Given the description of an element on the screen output the (x, y) to click on. 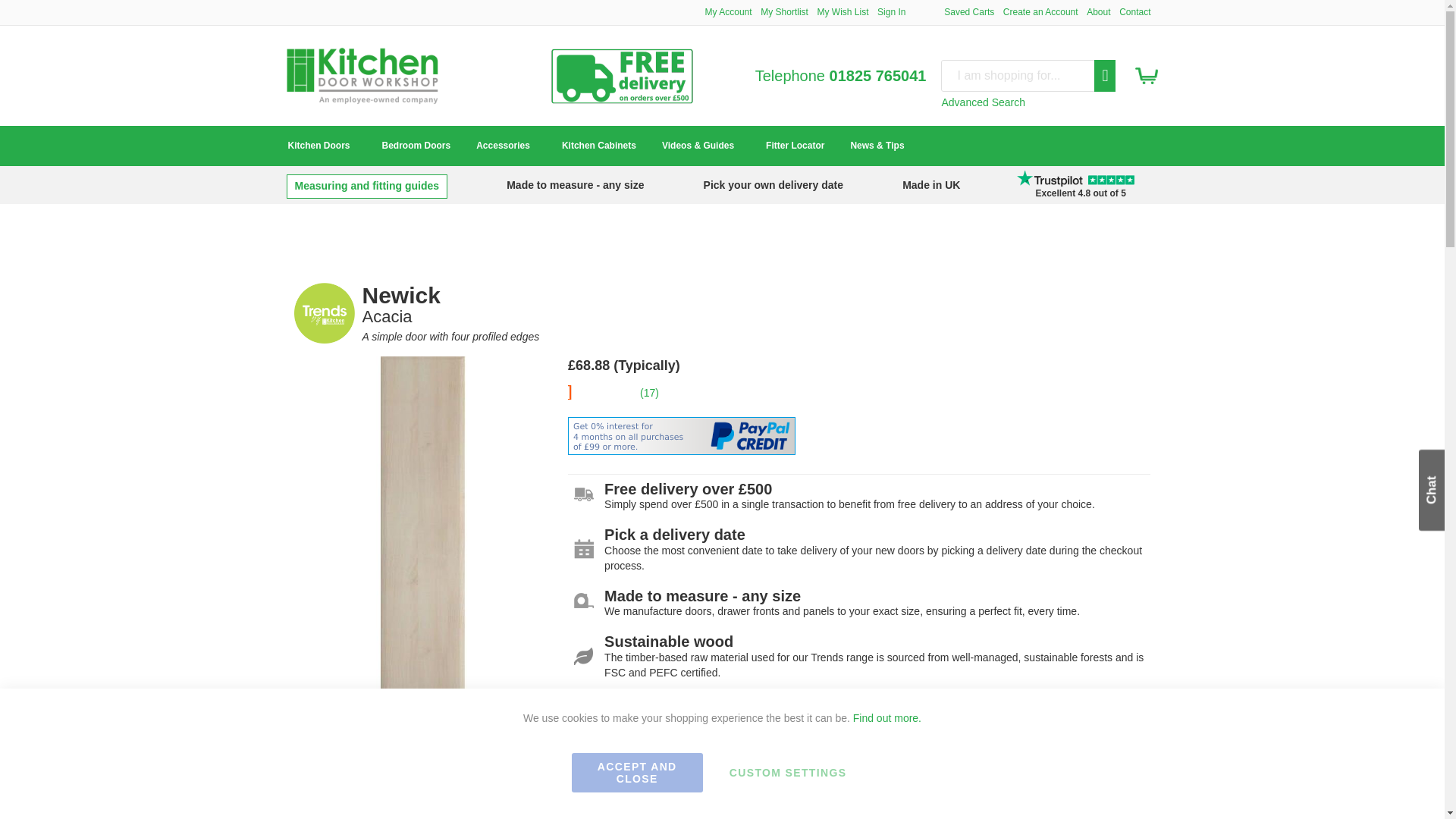
Bedroom Doors (416, 146)
Kitchen Door Workshop (362, 75)
Telephone 01825 765041 (840, 75)
Kitchen Cabinets (599, 146)
Sign In (891, 11)
My Account (728, 11)
Saved Carts (968, 11)
Create an Account (1040, 11)
My Shortlist (784, 11)
About (1097, 11)
Kitchen Doors (322, 146)
Contact (1134, 11)
My Wish List (841, 11)
Free delivery (621, 104)
Accessories (505, 146)
